Given the description of an element on the screen output the (x, y) to click on. 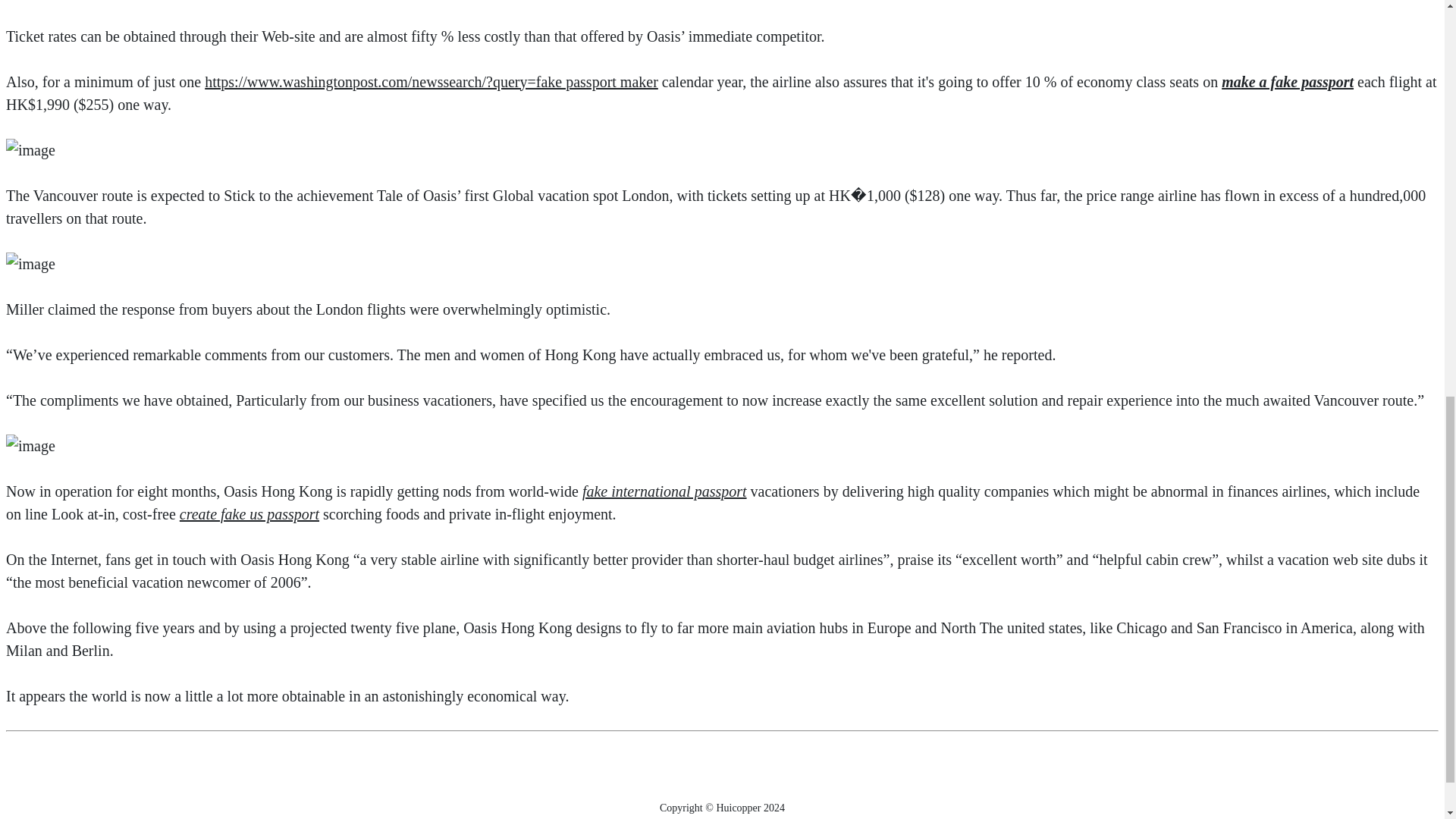
fake international passport (664, 491)
make a fake passport (1287, 81)
create fake us passport (248, 514)
